Given the description of an element on the screen output the (x, y) to click on. 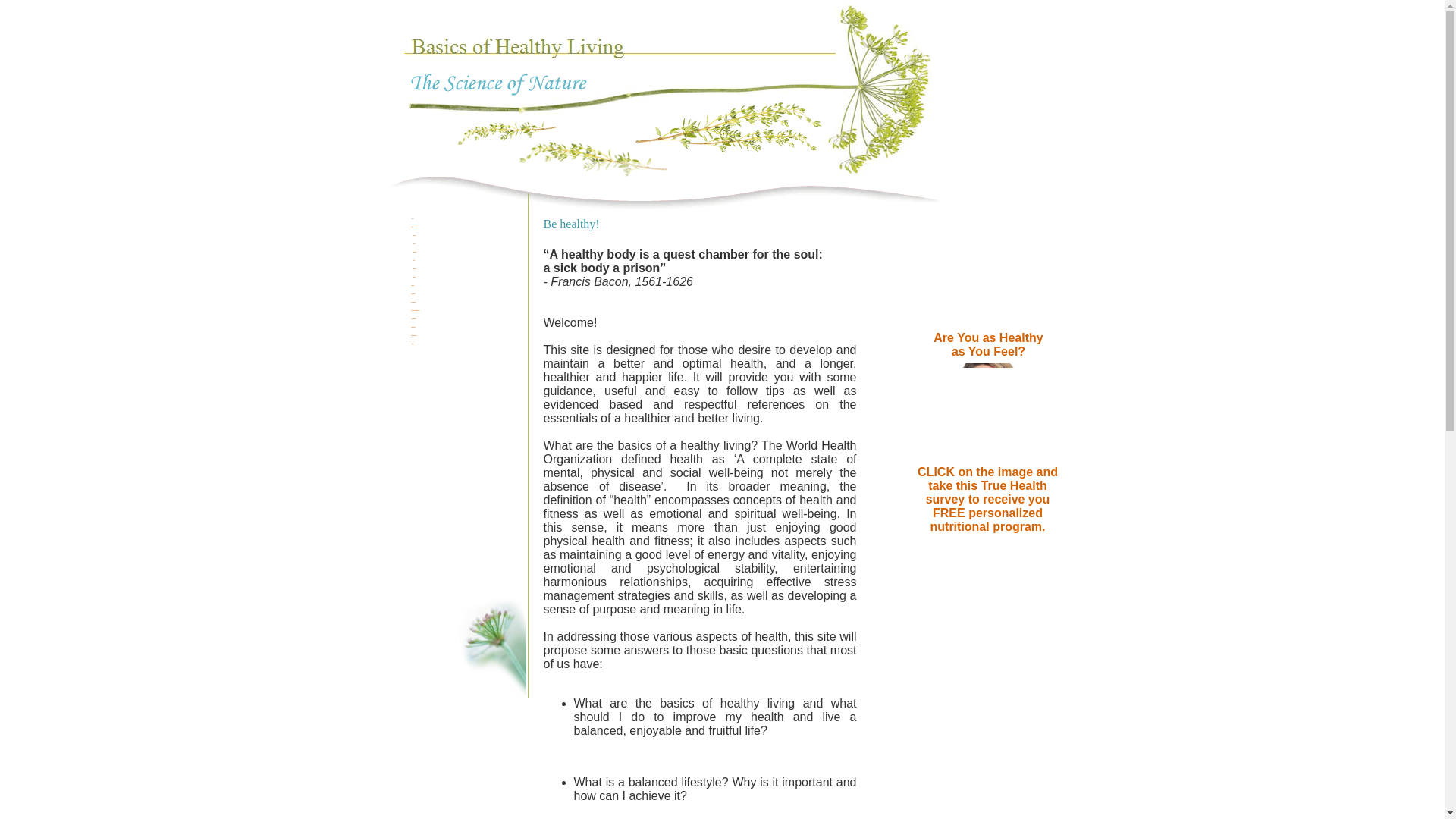
Ageing (414, 285)
Balanced Lifestyle (414, 226)
Antioxidants (414, 318)
      Financial (414, 268)
Contact Us (414, 326)
Nutrition (414, 293)
      Physical (414, 234)
Home (414, 218)
External Links (414, 335)
      Mental (414, 243)
